Given the description of an element on the screen output the (x, y) to click on. 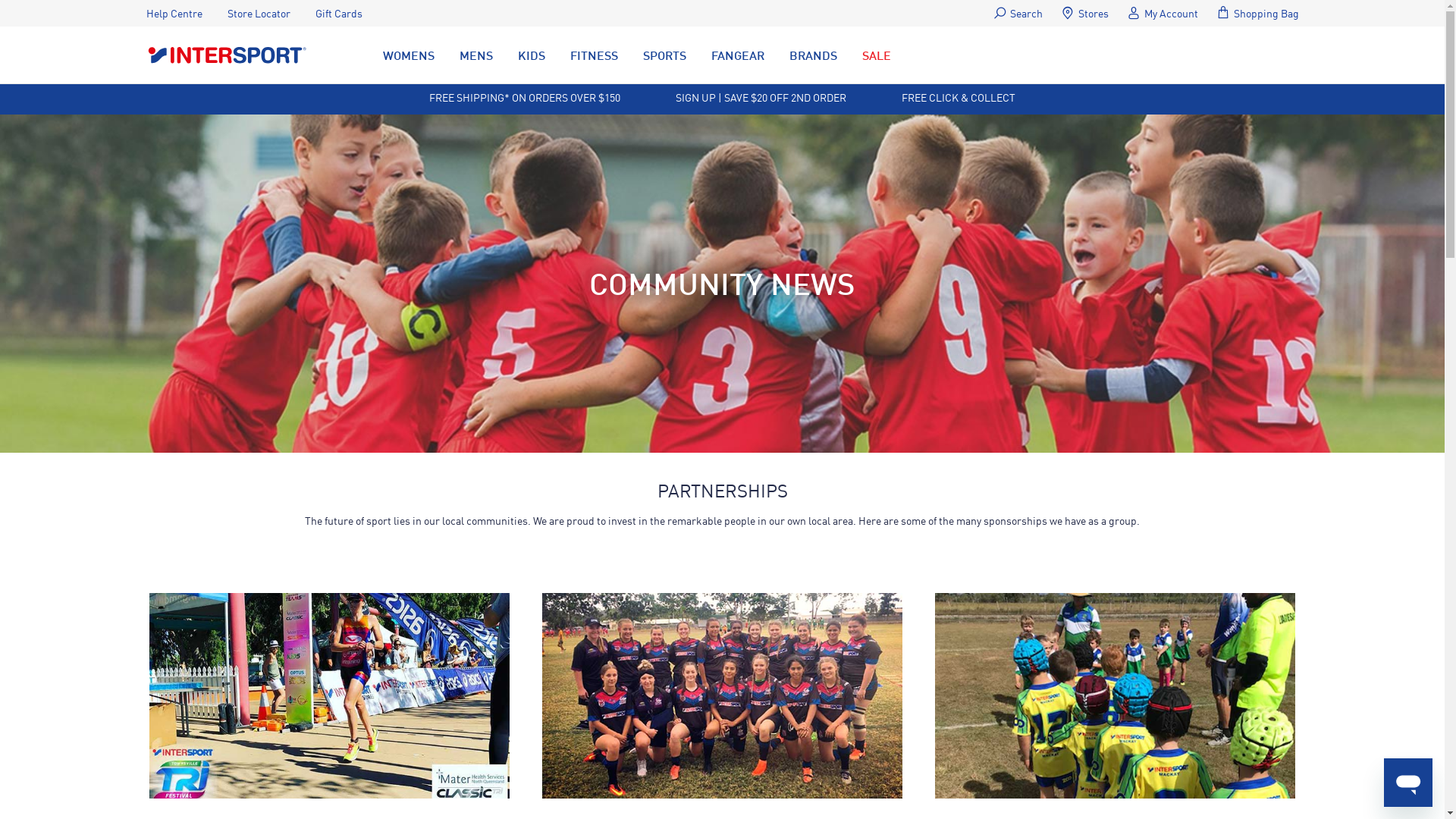
Help Centre Element type: text (173, 13)
FREE SHIPPING* ON ORDERS OVER $150 Element type: text (524, 97)
SIGN UP | SAVE $20 OFF 2ND ORDER Element type: text (760, 97)
My Account Element type: text (1160, 13)
KIDS Element type: text (531, 55)
Button to launch messaging window Element type: hover (1407, 782)
FREE CLICK & COLLECT Element type: text (958, 97)
FANGEAR Element type: text (737, 55)
Gift Cards Element type: text (338, 13)
Search Element type: text (1017, 13)
Store Locator Element type: text (258, 13)
BRANDS Element type: text (813, 55)
MENS Element type: text (475, 55)
Shopping Bag Element type: text (1256, 13)
WOMENS Element type: text (408, 55)
Stores Element type: text (1084, 13)
SALE Element type: text (876, 55)
SPORTS Element type: text (663, 55)
FITNESS Element type: text (593, 55)
